Given the description of an element on the screen output the (x, y) to click on. 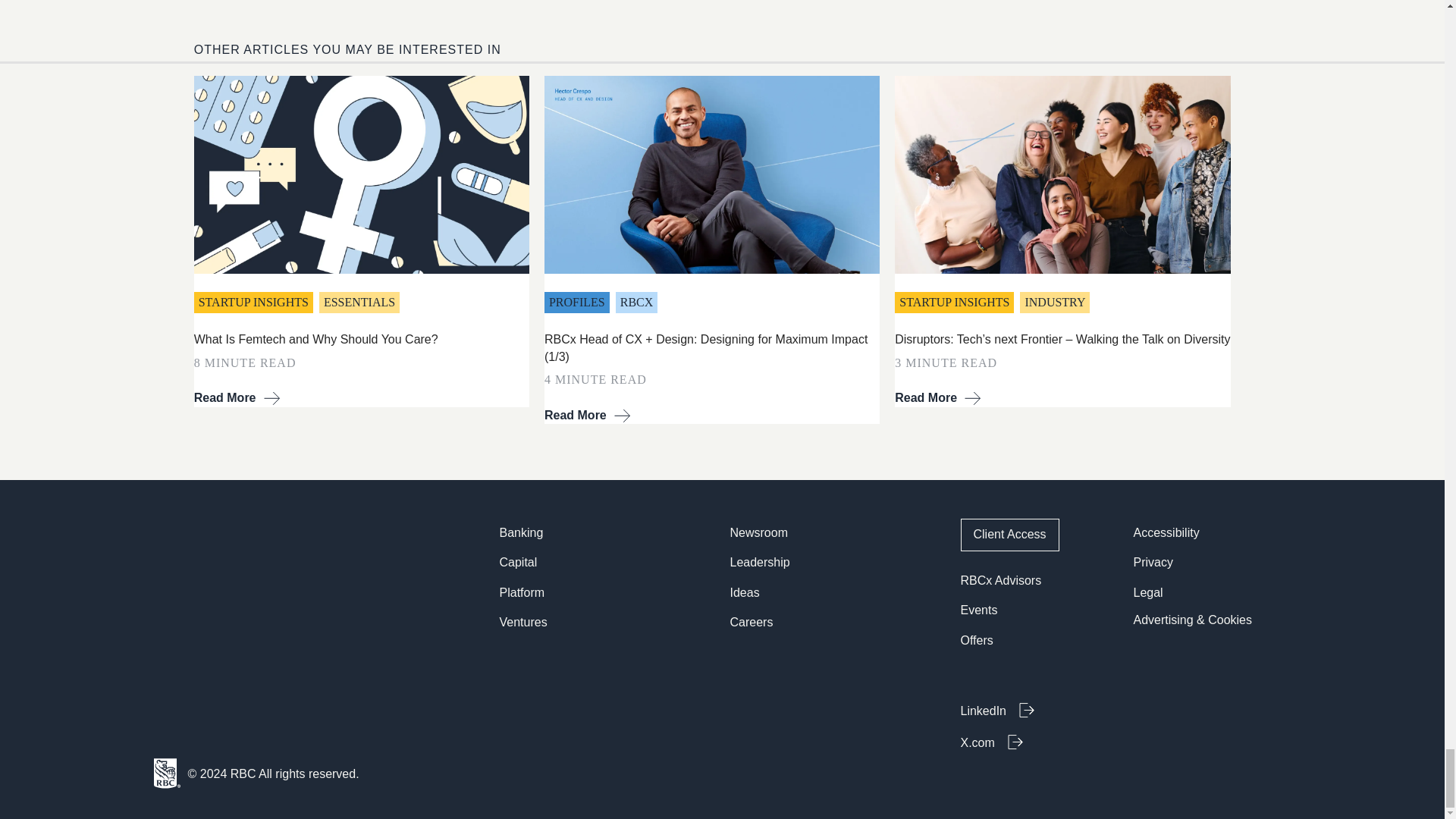
Twitter (1037, 742)
Enlarge photo (1062, 174)
LinkedIn (1037, 710)
Enlarge photo (361, 174)
Enlarge photo (711, 174)
